Given the description of an element on the screen output the (x, y) to click on. 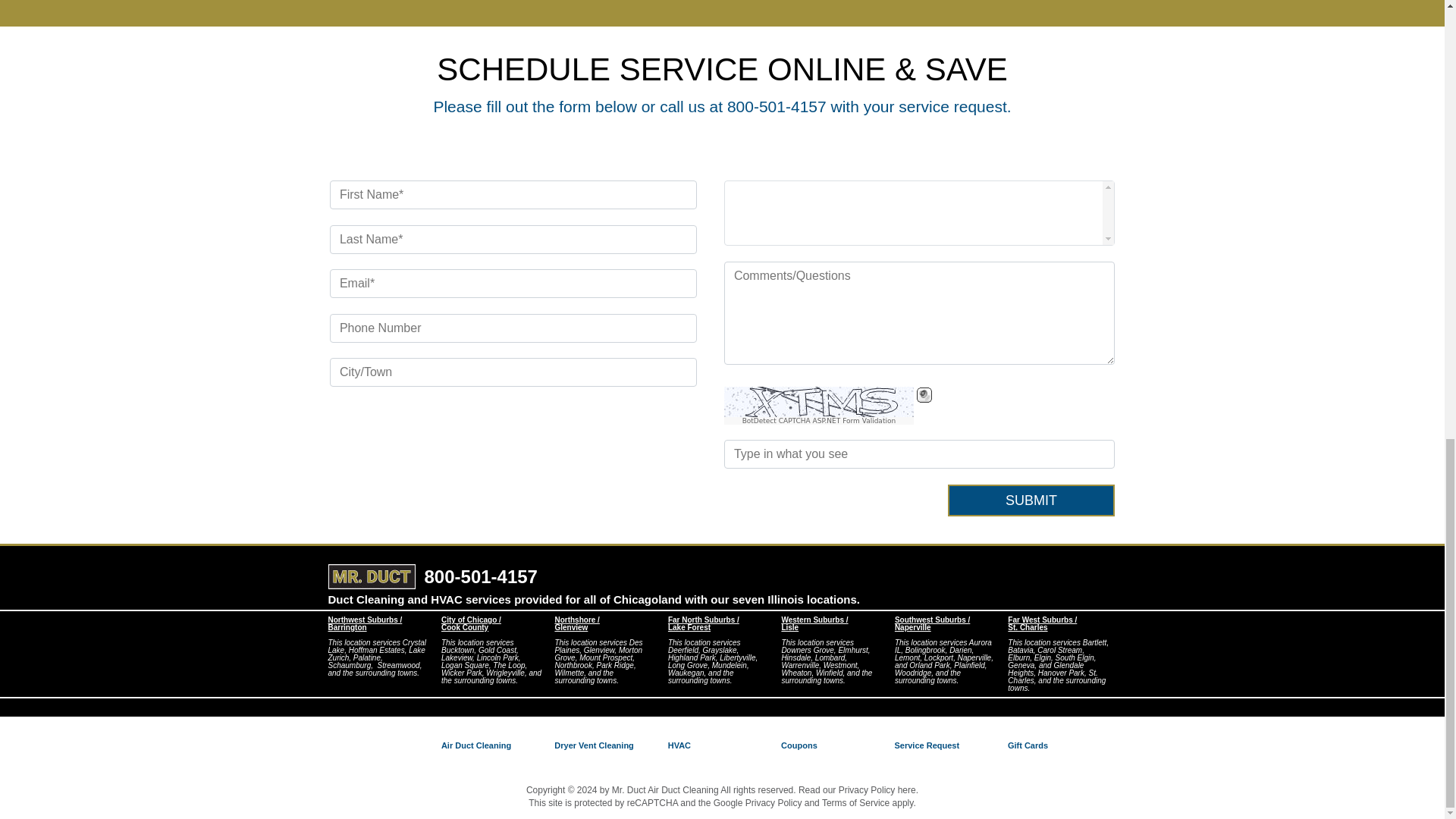
Mr. Duct Logo (370, 576)
Submit (1031, 500)
Speak the CAPTCHA code (924, 394)
BotDetect CAPTCHA ASP.NET Form Validation (818, 420)
